Given the description of an element on the screen output the (x, y) to click on. 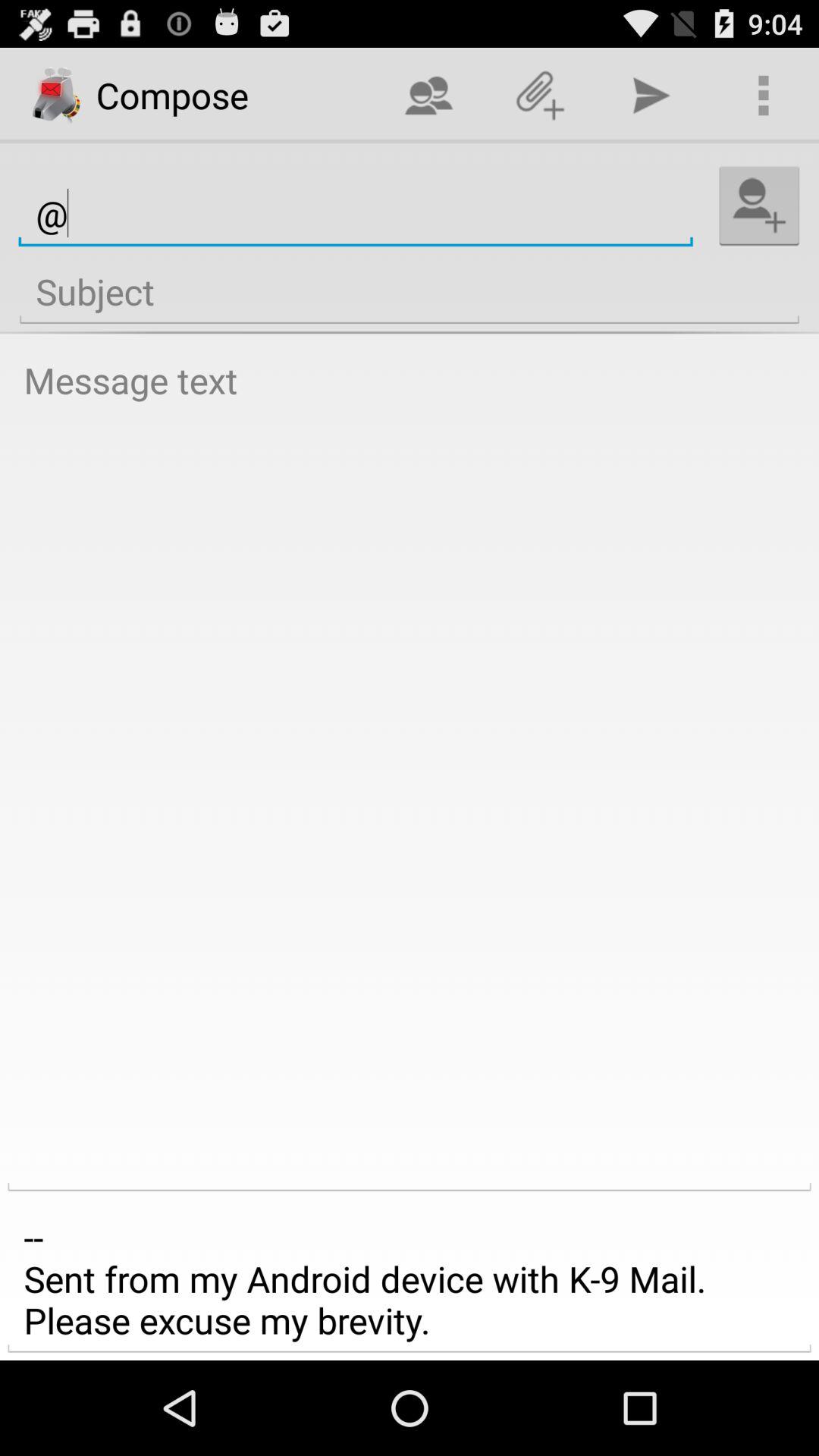
click the icon above @ icon (428, 95)
